Given the description of an element on the screen output the (x, y) to click on. 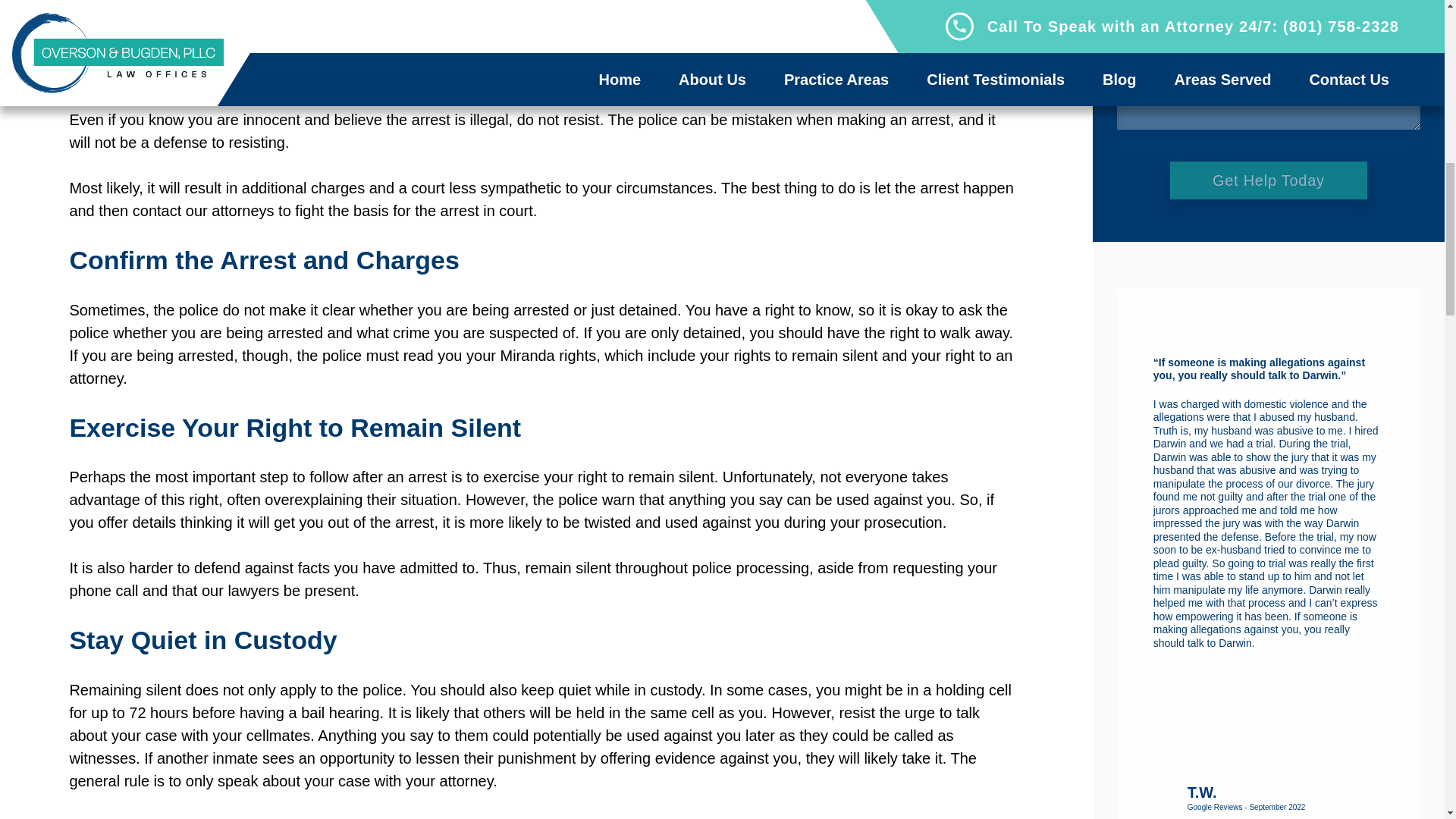
Get Help Today (1268, 179)
